Given the description of an element on the screen output the (x, y) to click on. 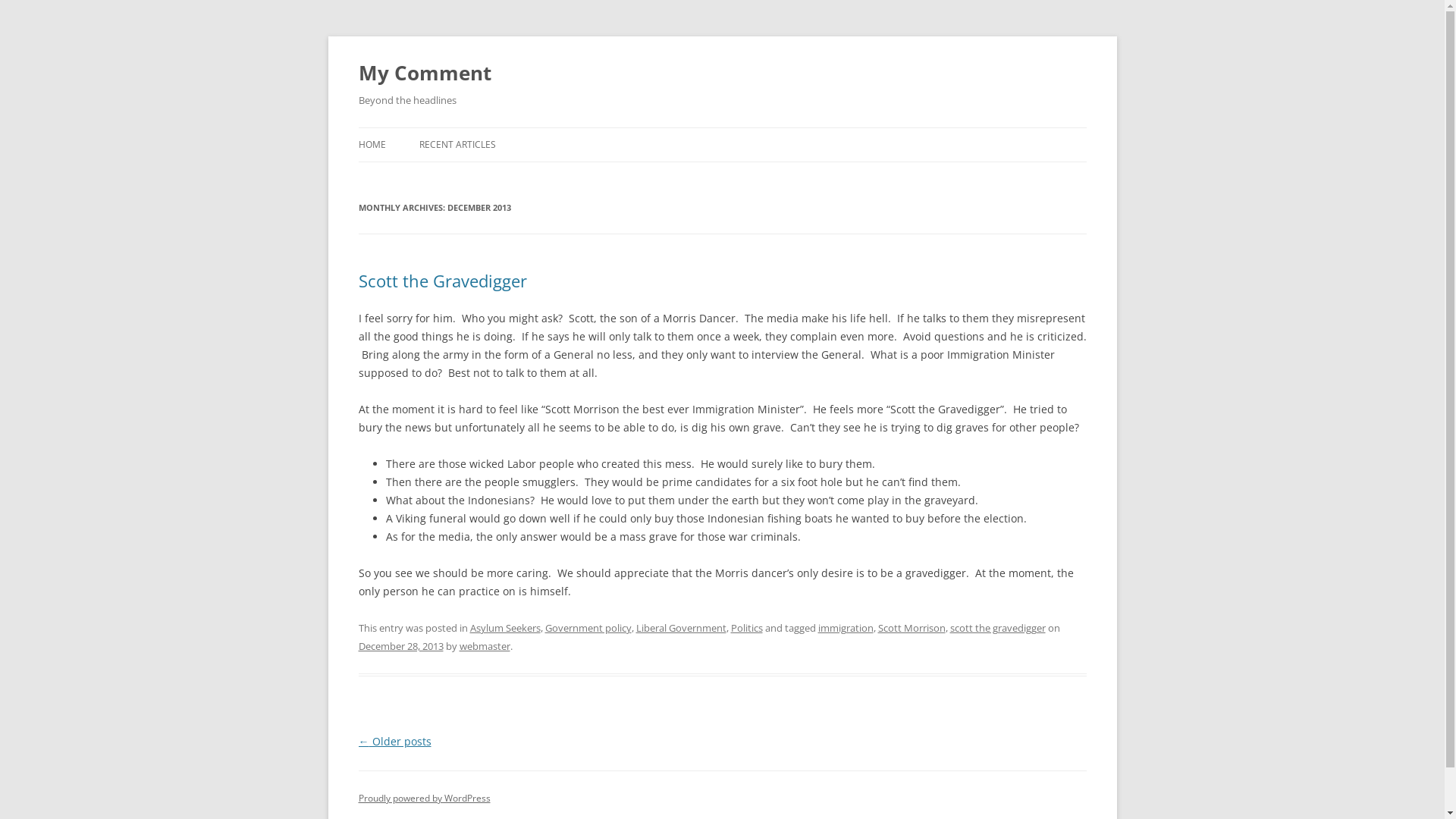
Government policy Element type: text (587, 627)
Proudly powered by WordPress Element type: text (423, 797)
Scott the Gravedigger Element type: text (441, 280)
December 28, 2013 Element type: text (399, 645)
webmaster Element type: text (484, 645)
scott the gravedigger Element type: text (996, 627)
immigration Element type: text (844, 627)
Politics Element type: text (746, 627)
RECENT ARTICLES Element type: text (456, 144)
Scott Morrison Element type: text (911, 627)
Liberal Government Element type: text (680, 627)
HOME Element type: text (371, 144)
My Comment Element type: text (423, 72)
Asylum Seekers Element type: text (505, 627)
Skip to content Element type: text (721, 127)
